Given the description of an element on the screen output the (x, y) to click on. 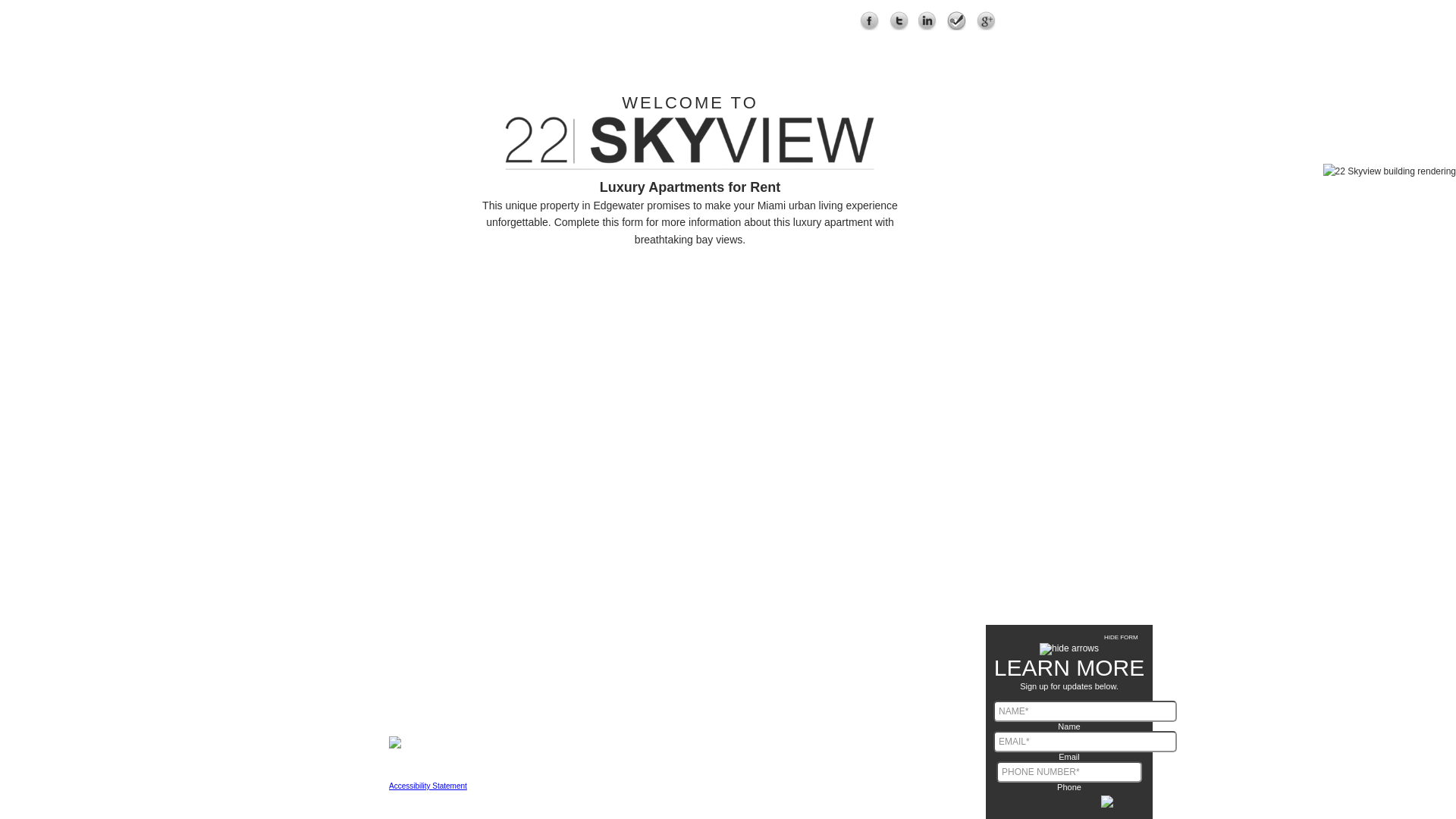
LOCATION Element type: text (786, 46)
HIDE FORM  Element type: text (1068, 642)
VIEWS Element type: text (713, 46)
AMENITIES Element type: text (869, 46)
DEVELOPERS Element type: text (959, 46)
Accessibility Statement Element type: text (428, 785)
FLOORPLANS Element type: text (633, 46)
CONTACT Element type: text (1047, 46)
